Given the description of an element on the screen output the (x, y) to click on. 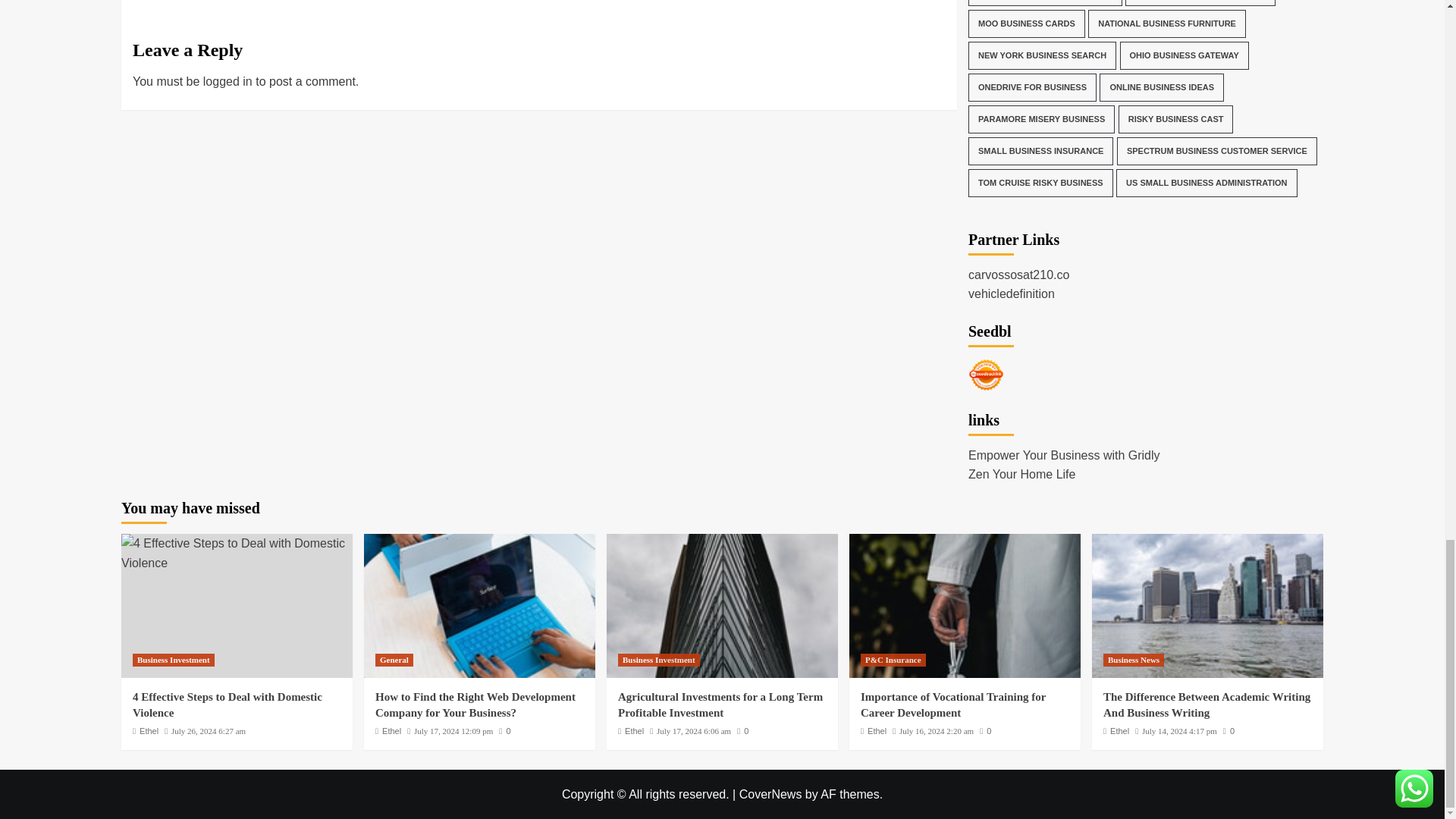
Seedbacklink (986, 375)
4 Effective Steps to Deal with Domestic Violence (236, 552)
